Given the description of an element on the screen output the (x, y) to click on. 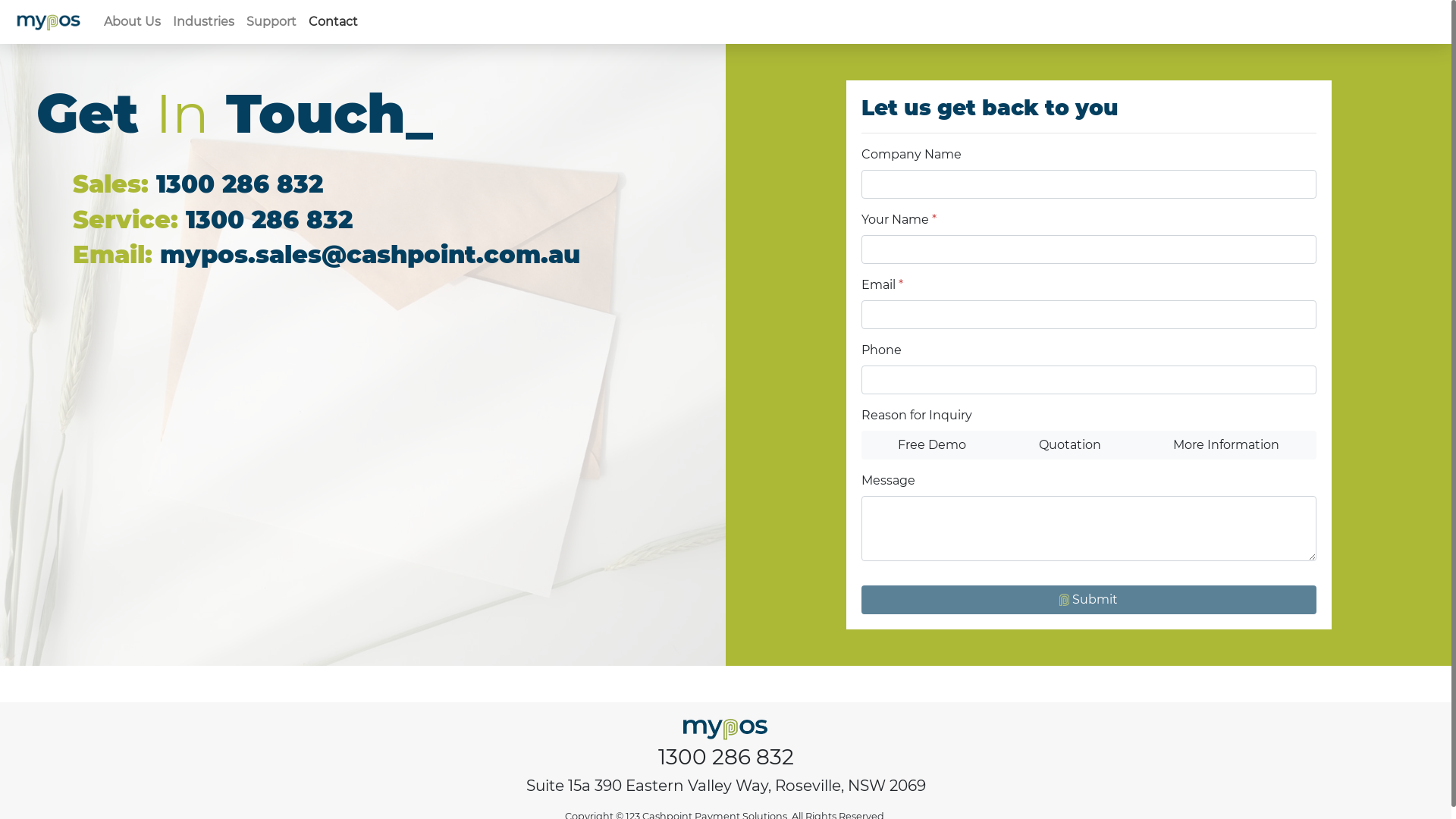
Submit Element type: text (1088, 599)
Quotation Element type: text (1069, 444)
About Us Element type: text (131, 21)
More Information Element type: text (1226, 444)
Free Demo Element type: text (932, 444)
Contact Element type: text (333, 21)
Industries Element type: text (203, 21)
Support Element type: text (271, 21)
